Given the description of an element on the screen output the (x, y) to click on. 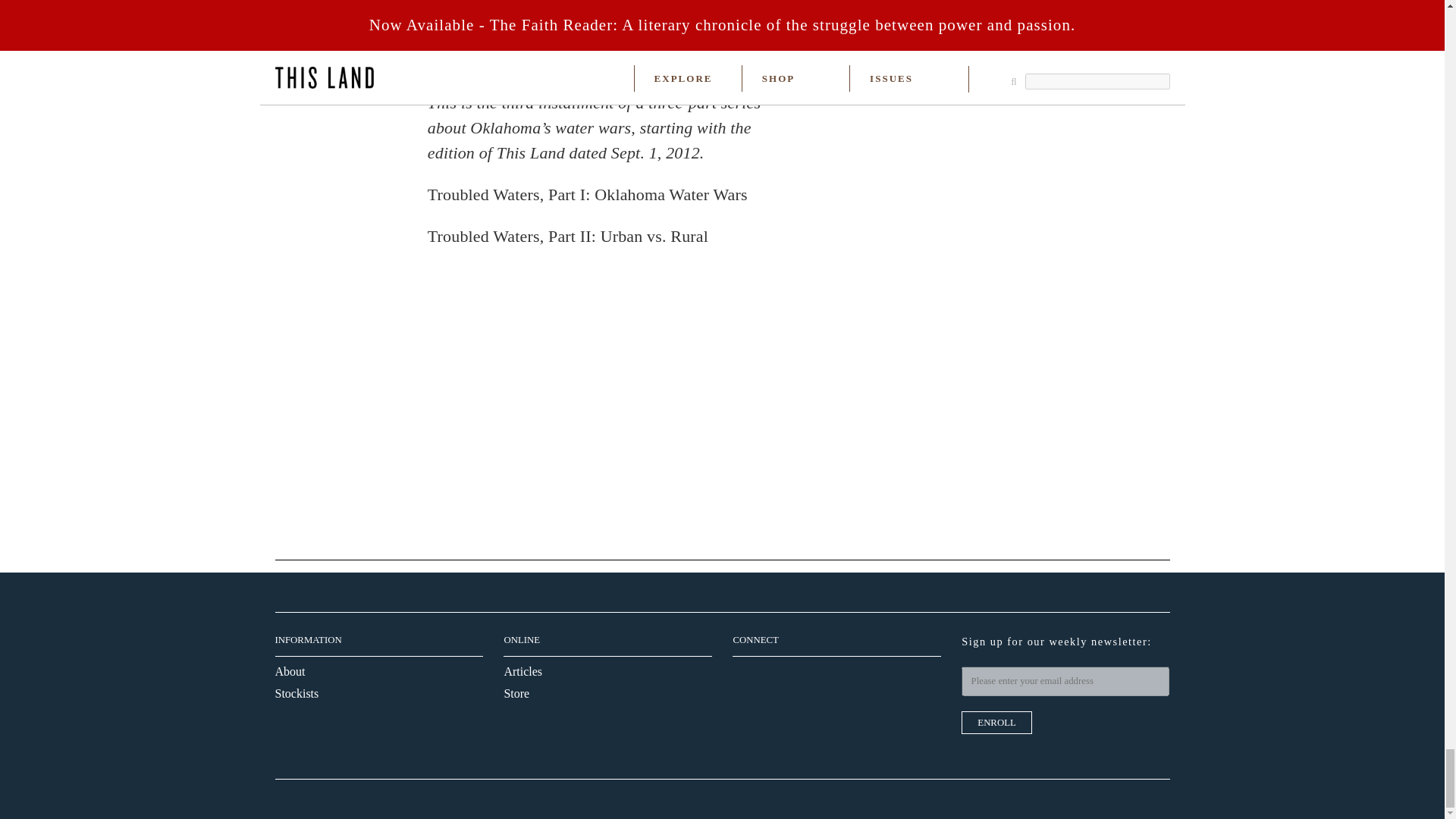
Stockists (296, 693)
About (289, 671)
Enroll (995, 722)
Enroll (995, 722)
Store (516, 693)
Articles (522, 671)
Troubled Waters, Part I: Oklahoma Water Wars (588, 194)
Troubled Waters, Part II: Urban vs. Rural (567, 235)
